Given the description of an element on the screen output the (x, y) to click on. 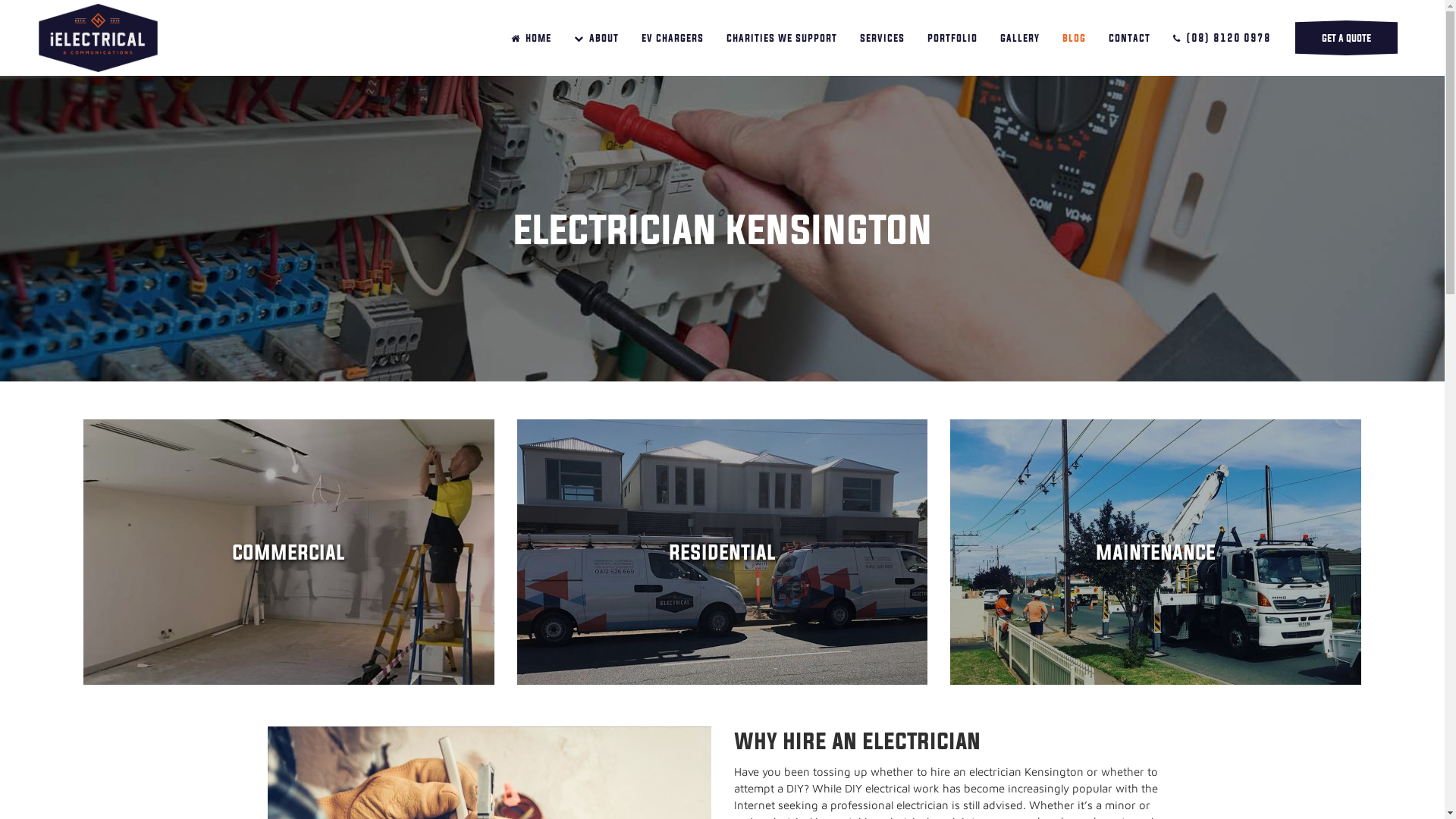
services Element type: text (882, 37)
home Element type: text (530, 37)
about Element type: text (596, 37)
gallery Element type: text (1019, 37)
charities we support Element type: text (781, 37)
(08) 8120 0978 Element type: text (1221, 37)
portfolio Element type: text (952, 37)
ev chargers Element type: text (672, 37)
get a quote Element type: text (1346, 37)
contact Element type: text (1129, 37)
blog Element type: text (1074, 37)
